Given the description of an element on the screen output the (x, y) to click on. 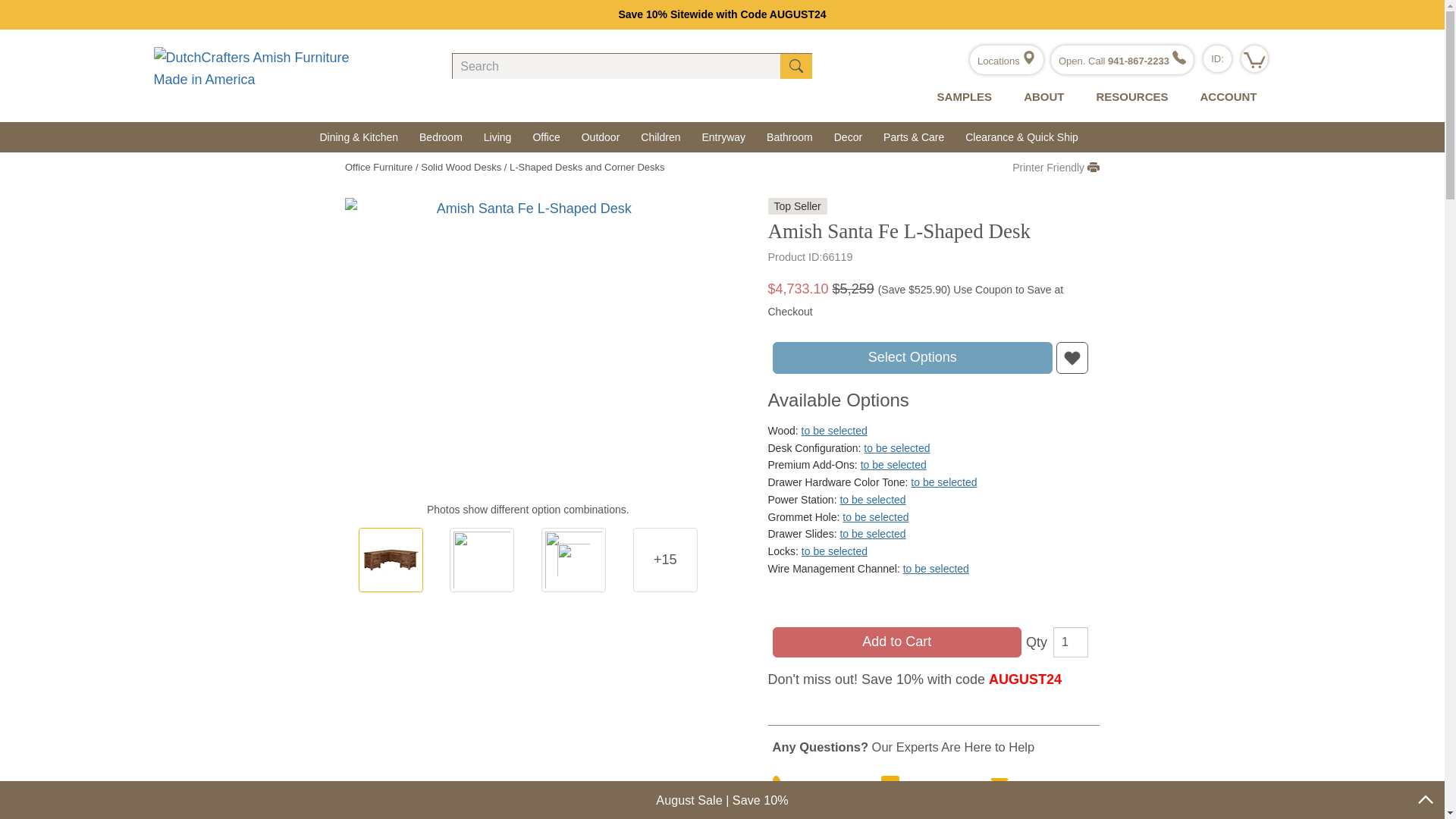
ABOUT (1039, 96)
SAMPLES (961, 96)
Locations (1005, 60)
Open. Call 941-867-2233 (1122, 60)
ACCOUNT (1224, 96)
1 (1069, 642)
RESOURCES (1128, 96)
